Given the description of an element on the screen output the (x, y) to click on. 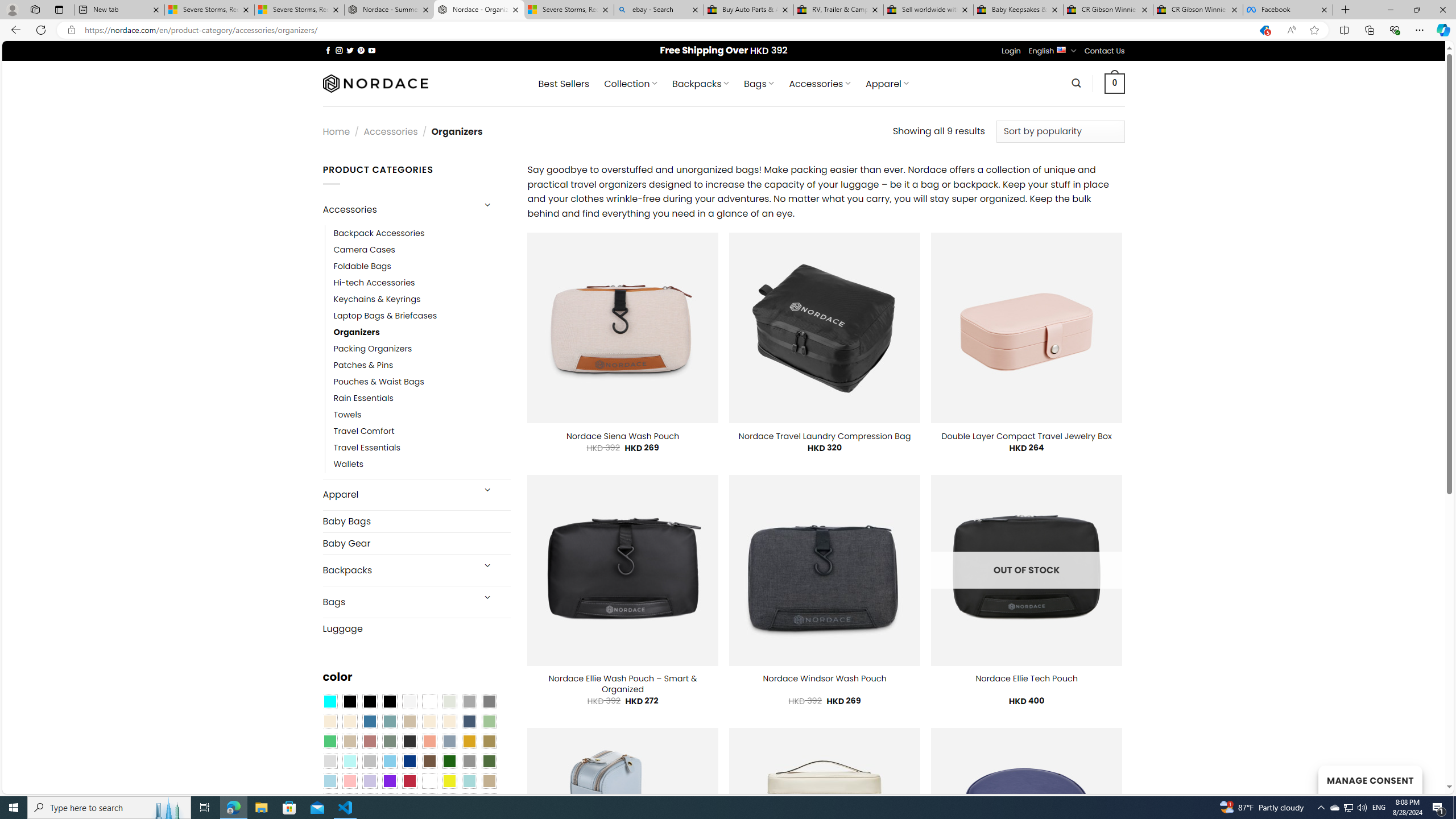
Baby Keepsakes & Announcements for sale | eBay (1018, 9)
Tab actions menu (58, 9)
Sky Blue (389, 761)
Hale Navy (468, 721)
Pearly White (408, 701)
Luggage (416, 628)
Close tab (1324, 9)
RV, Trailer & Camper Steps & Ladders for sale | eBay (838, 9)
Nordace Siena Wash Pouch (622, 436)
  Best Sellers (563, 83)
Caramel (429, 721)
Close (1442, 9)
Towels (347, 415)
